Given the description of an element on the screen output the (x, y) to click on. 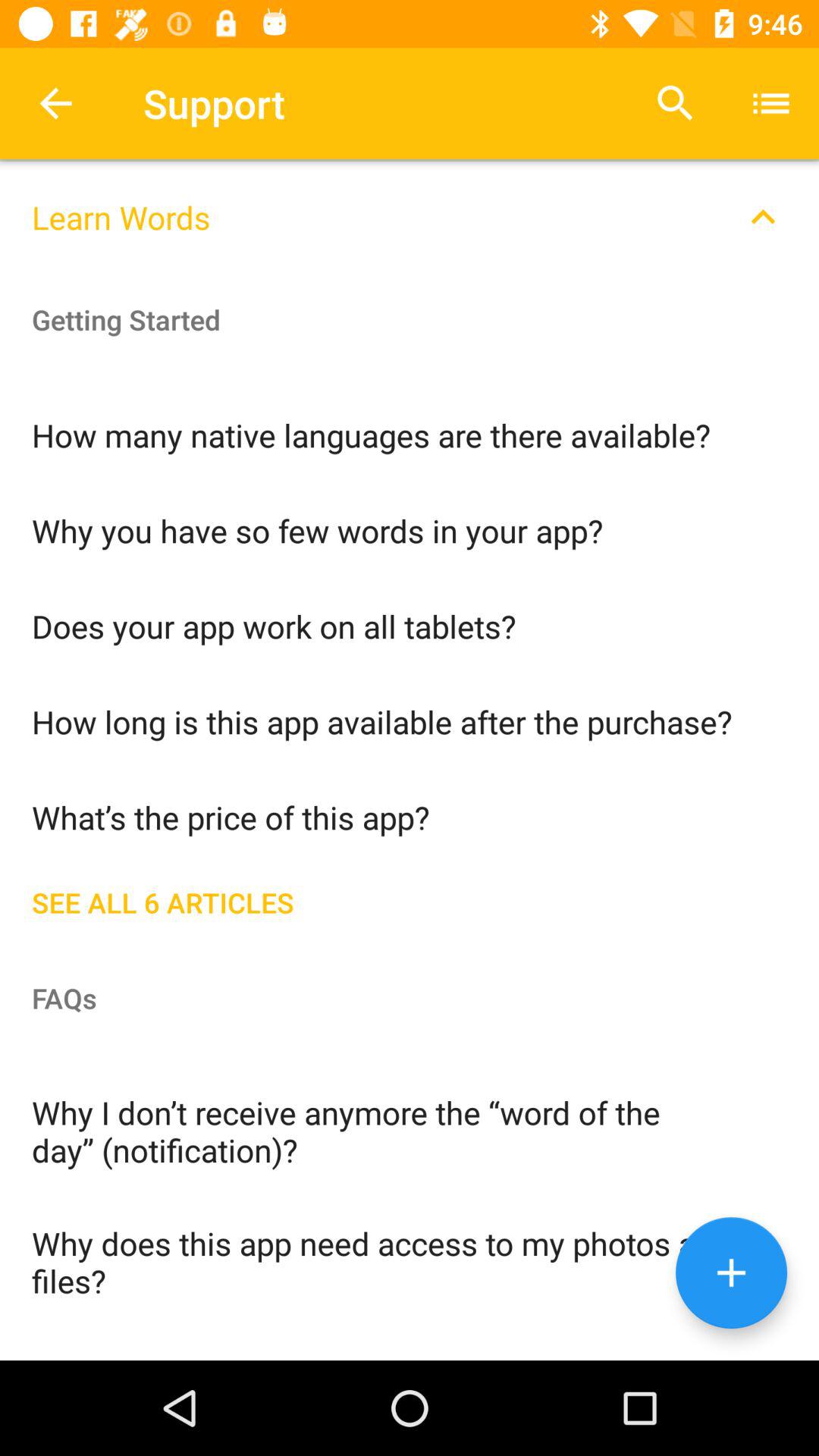
select the see all 6 icon (409, 899)
